Given the description of an element on the screen output the (x, y) to click on. 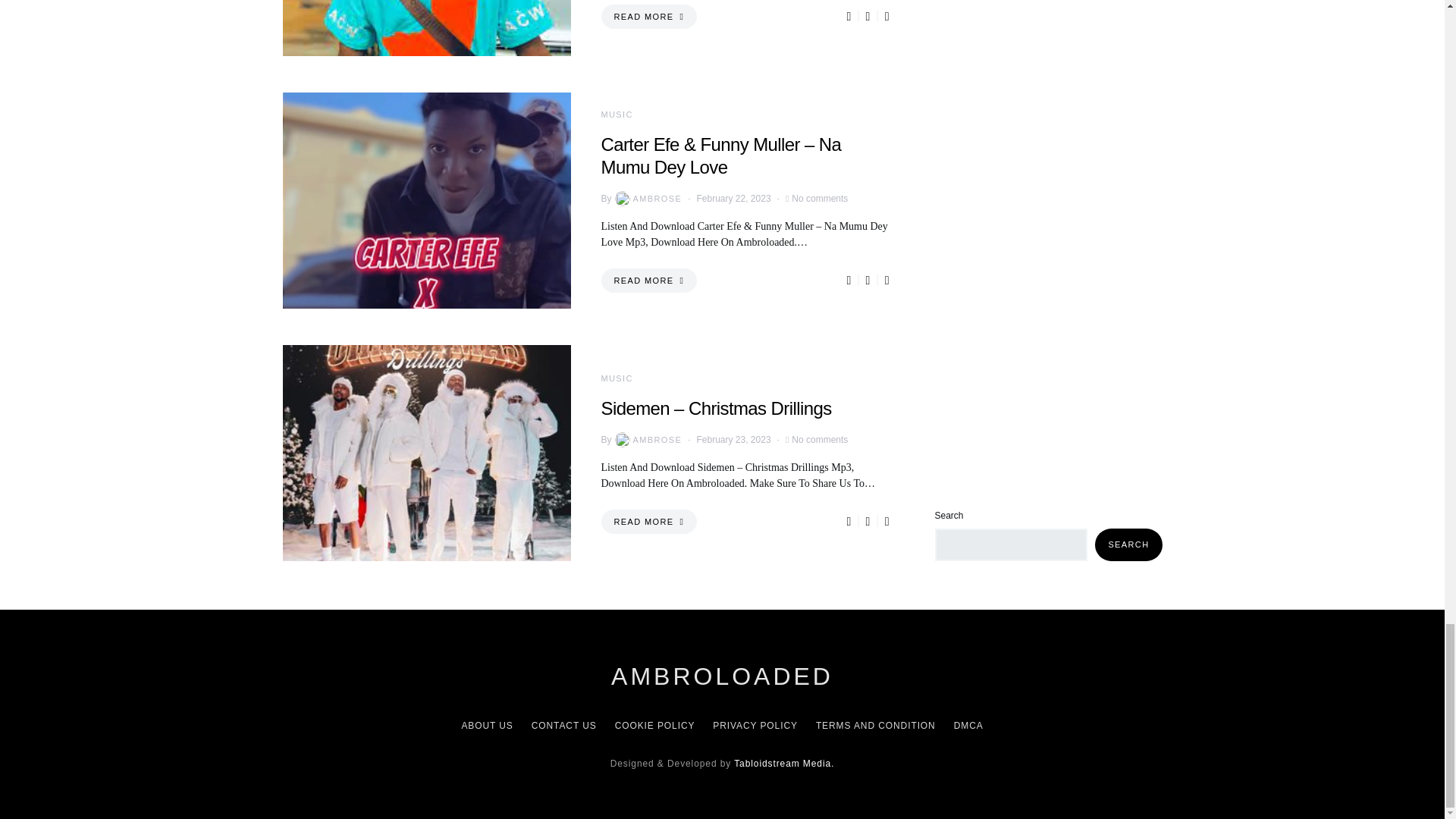
View all posts by Ambrose (646, 439)
View all posts by Ambrose (646, 198)
